Given the description of an element on the screen output the (x, y) to click on. 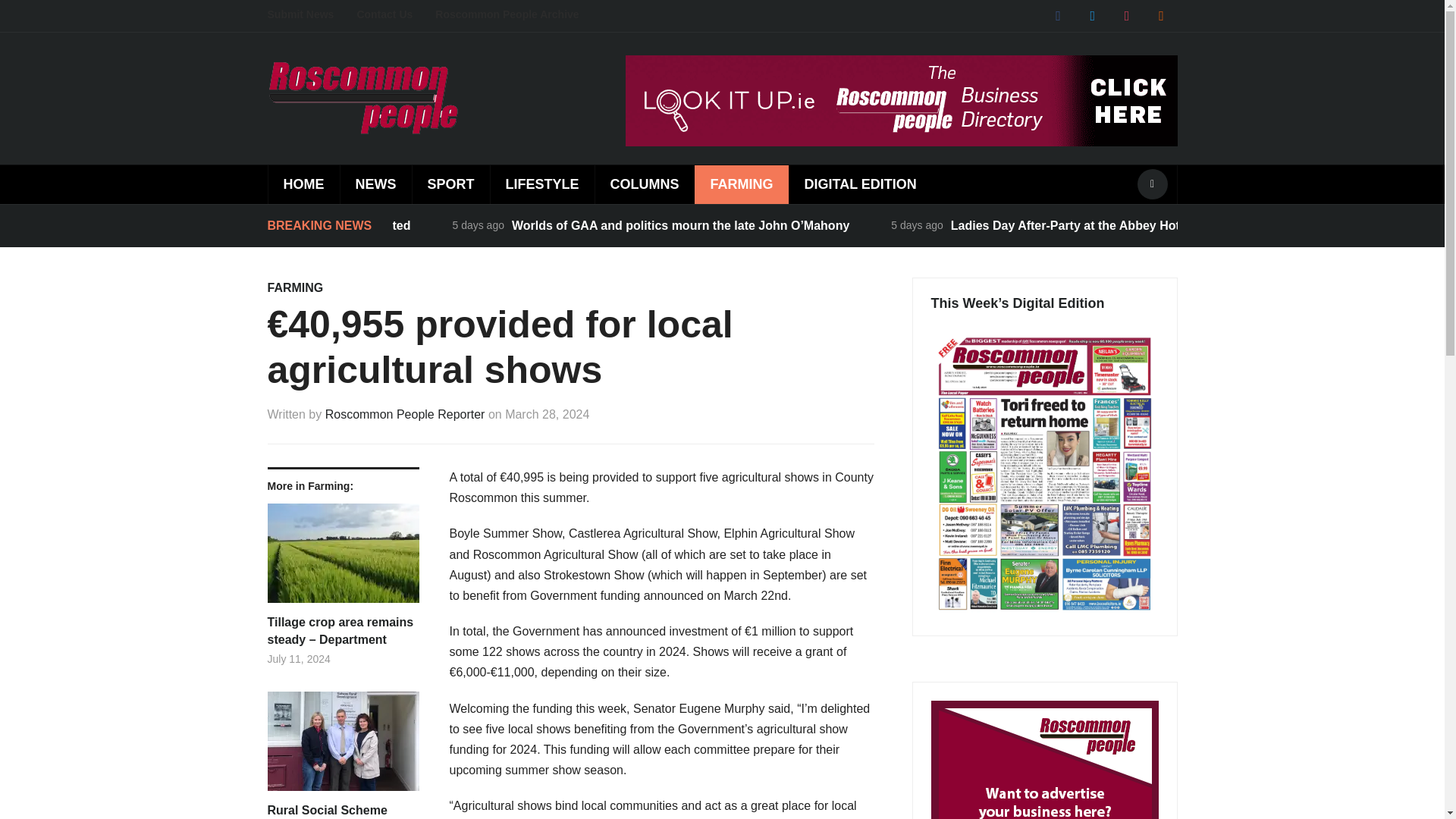
Roscommon People Archive (518, 15)
Ladies Day After-Party  at the Abbey Hotel (1069, 225)
facebook (1057, 14)
FARMING (294, 287)
LIFESTYLE (541, 184)
NEWS (375, 184)
Search (1152, 183)
instagram (1126, 14)
HOME (302, 184)
rss (1160, 14)
Follow Me (1092, 14)
Ladies Day After-Party at the Abbey Hotel (1069, 225)
Friend me on Facebook (1057, 14)
